Given the description of an element on the screen output the (x, y) to click on. 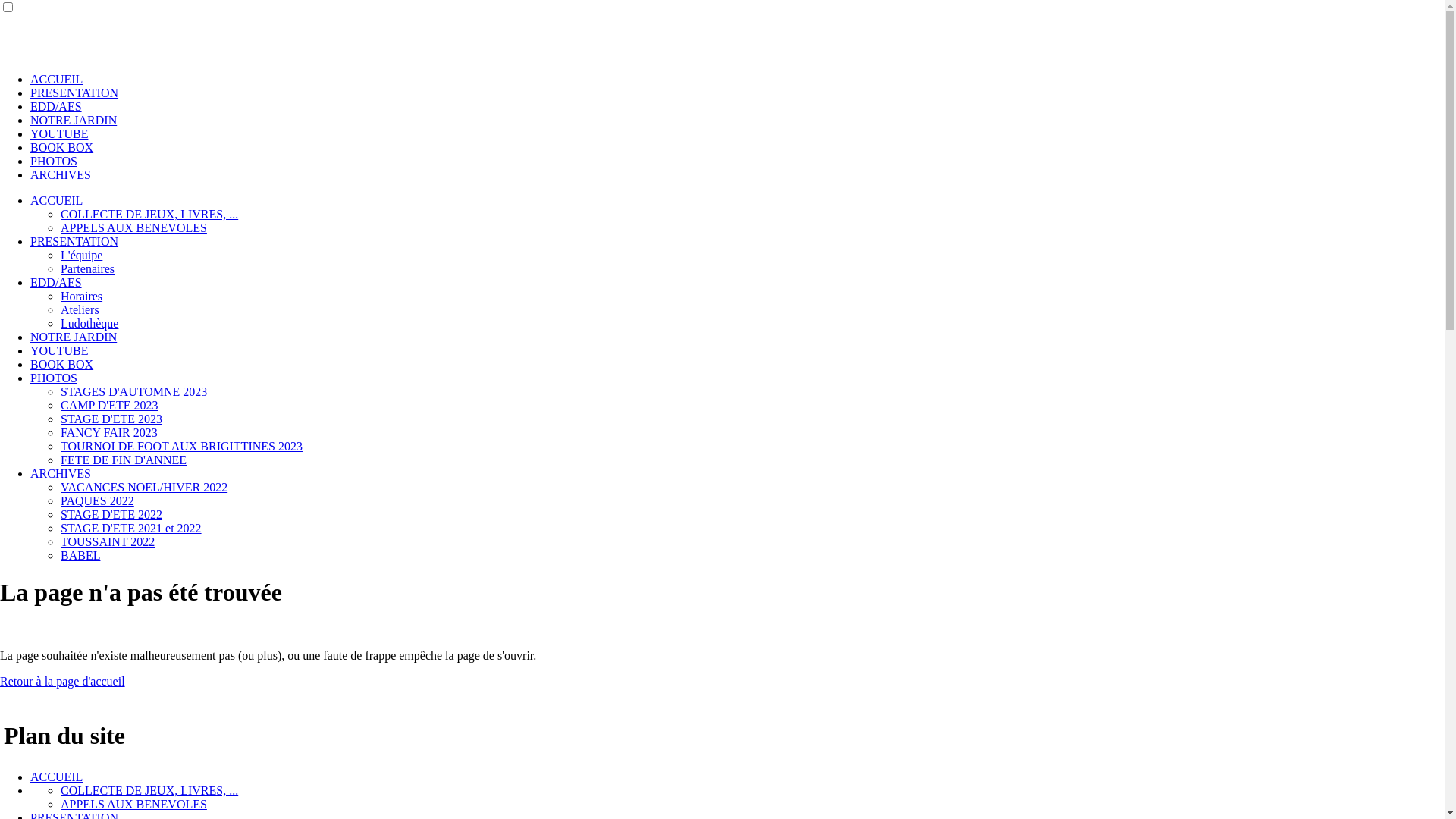
PRESENTATION Element type: text (74, 92)
YOUTUBE Element type: text (58, 133)
NOTRE JARDIN Element type: text (73, 336)
Partenaires Element type: text (87, 268)
APPELS AUX BENEVOLES Element type: text (133, 803)
Ateliers Element type: text (79, 309)
FANCY FAIR 2023 Element type: text (108, 432)
PAQUES 2022 Element type: text (97, 500)
BOOK BOX Element type: text (61, 147)
ACCUEIL Element type: text (56, 200)
CAMP D'ETE 2023 Element type: text (109, 404)
YOUTUBE Element type: text (58, 350)
VACANCES NOEL/HIVER 2022 Element type: text (143, 486)
ARCHIVES Element type: text (60, 174)
TOUSSAINT 2022 Element type: text (107, 541)
TOURNOI DE FOOT AUX BRIGITTINES 2023 Element type: text (181, 445)
NOTRE JARDIN Element type: text (73, 119)
ARCHIVES Element type: text (60, 473)
ACCUEIL Element type: text (56, 776)
APPELS AUX BENEVOLES Element type: text (133, 227)
STAGES D'AUTOMNE 2023 Element type: text (133, 391)
BOOK BOX Element type: text (61, 363)
COLLECTE DE JEUX, LIVRES, ... Element type: text (149, 790)
EDD/AES Element type: text (55, 282)
COLLECTE DE JEUX, LIVRES, ... Element type: text (149, 213)
Horaires Element type: text (81, 295)
BABEL Element type: text (80, 555)
PRESENTATION Element type: text (74, 241)
STAGE D'ETE 2021 et 2022 Element type: text (130, 527)
EDD/AES Element type: text (55, 106)
PHOTOS Element type: text (53, 160)
ACCUEIL Element type: text (56, 78)
STAGE D'ETE 2023 Element type: text (111, 418)
STAGE D'ETE 2022 Element type: text (111, 514)
FETE DE FIN D'ANNEE Element type: text (123, 459)
PHOTOS Element type: text (53, 377)
